Given the description of an element on the screen output the (x, y) to click on. 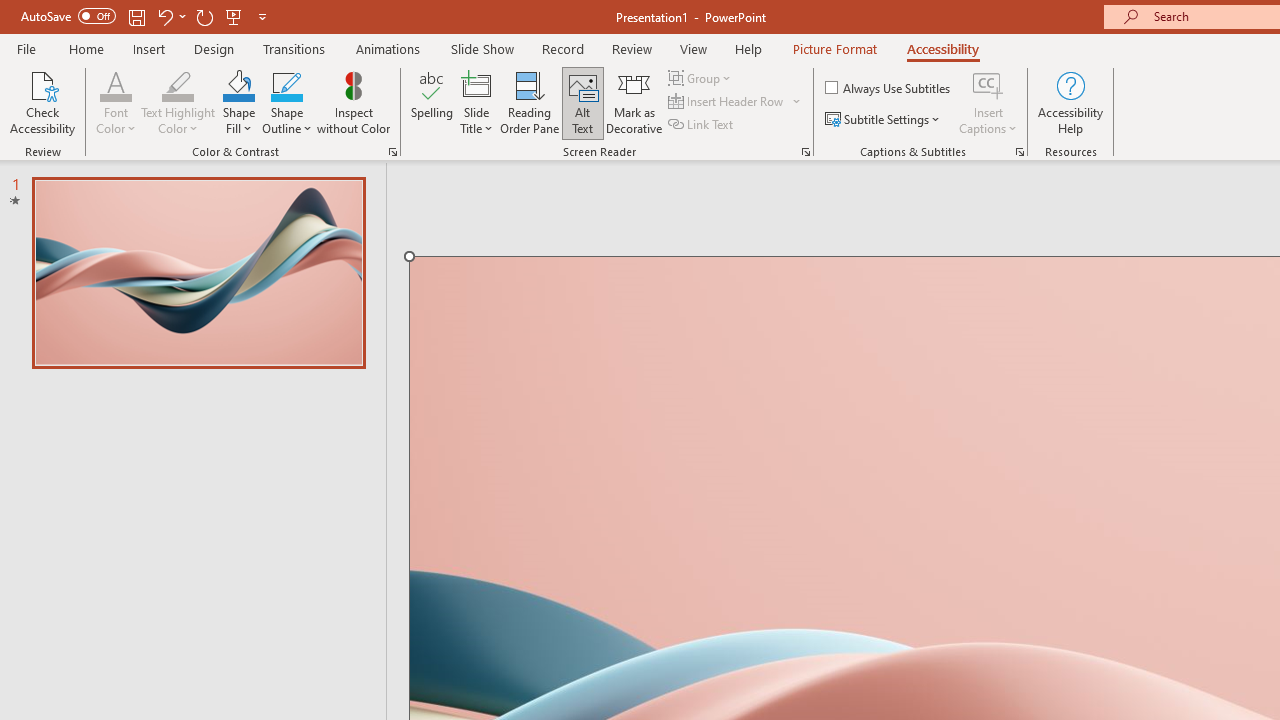
Captions & Subtitles (1019, 151)
